Given the description of an element on the screen output the (x, y) to click on. 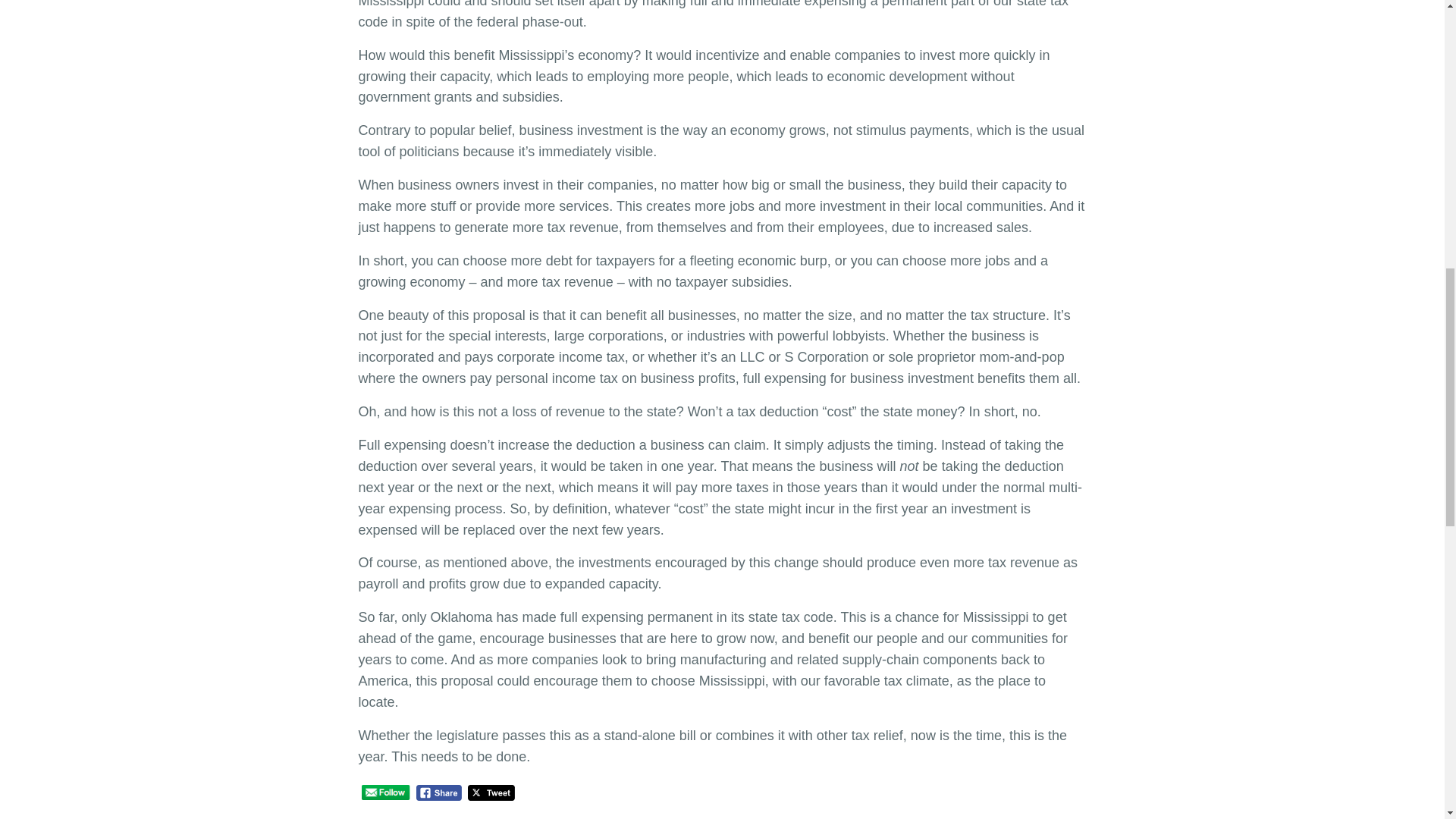
Facebook Share (439, 792)
Tweet (491, 792)
